Given the description of an element on the screen output the (x, y) to click on. 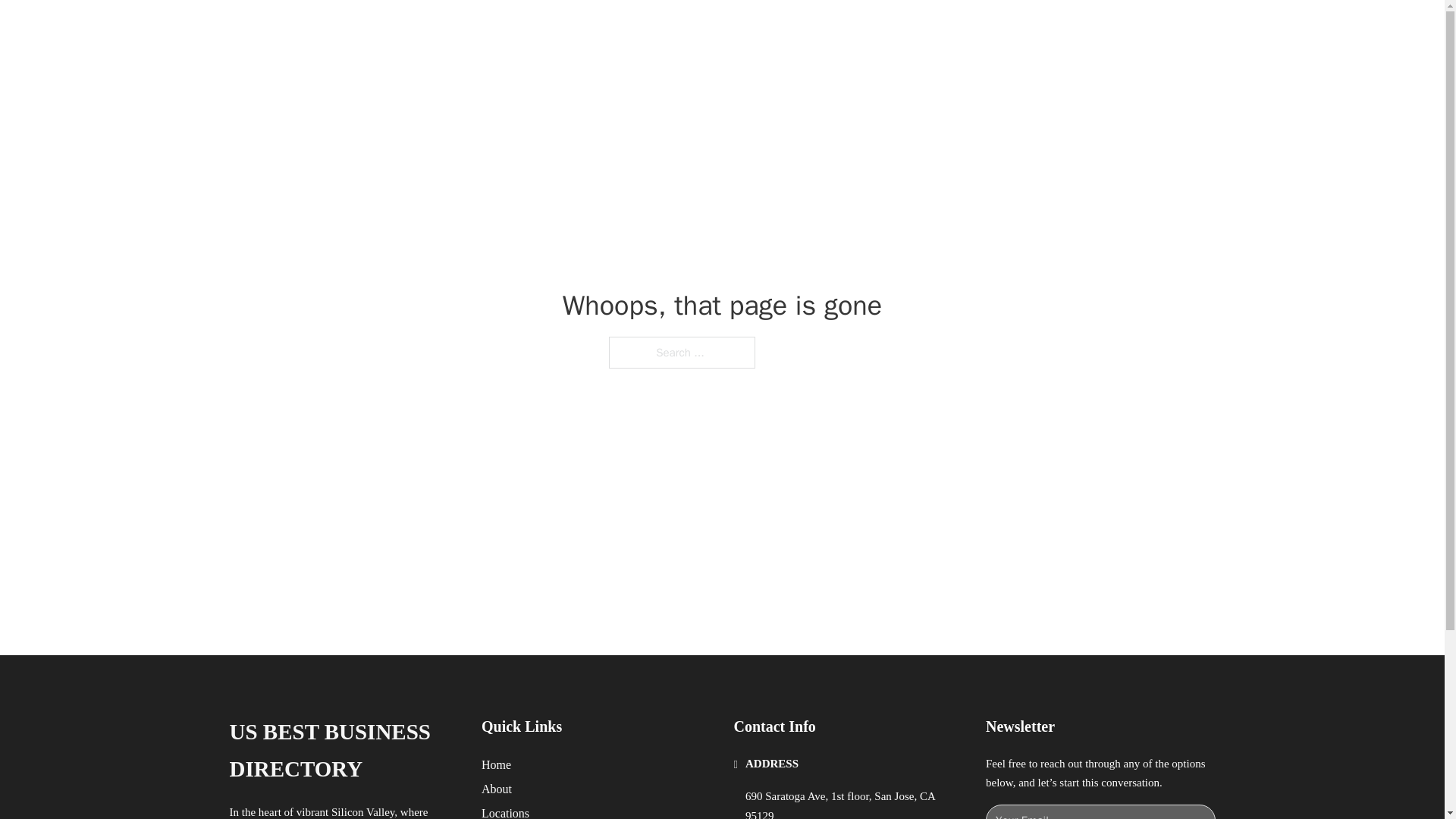
Home (496, 764)
US BEST BUSINESS DIRECTORY (343, 750)
US BEST BUSINESS DIRECTORY (464, 28)
Locations (505, 811)
About (496, 788)
